Given the description of an element on the screen output the (x, y) to click on. 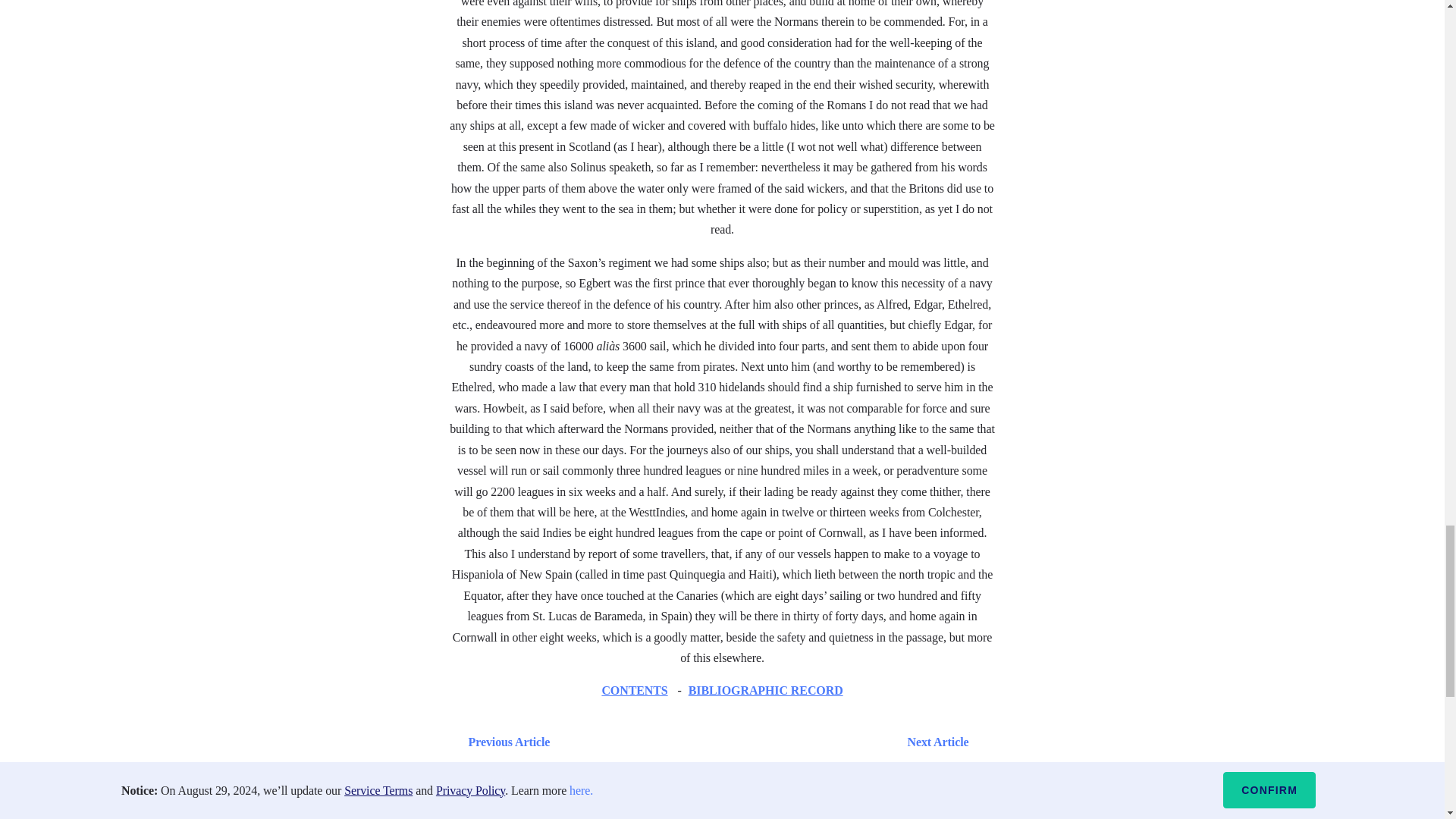
BIBLIOGRAPHIC RECORD (765, 689)
Previous Article (505, 742)
CONTENTS (633, 689)
Next Article (766, 742)
